Given the description of an element on the screen output the (x, y) to click on. 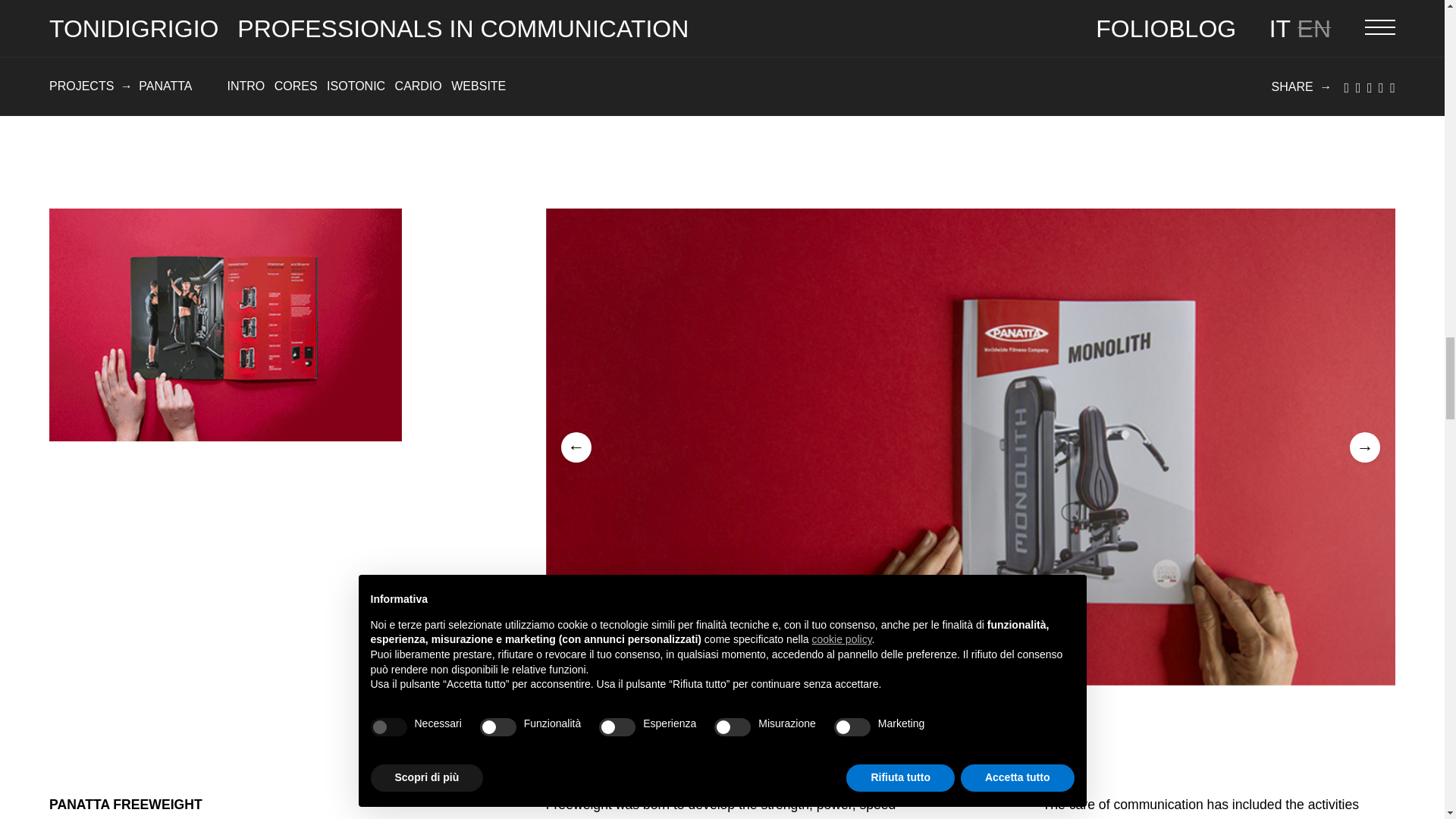
Next (1364, 447)
Previous (575, 447)
